Given the description of an element on the screen output the (x, y) to click on. 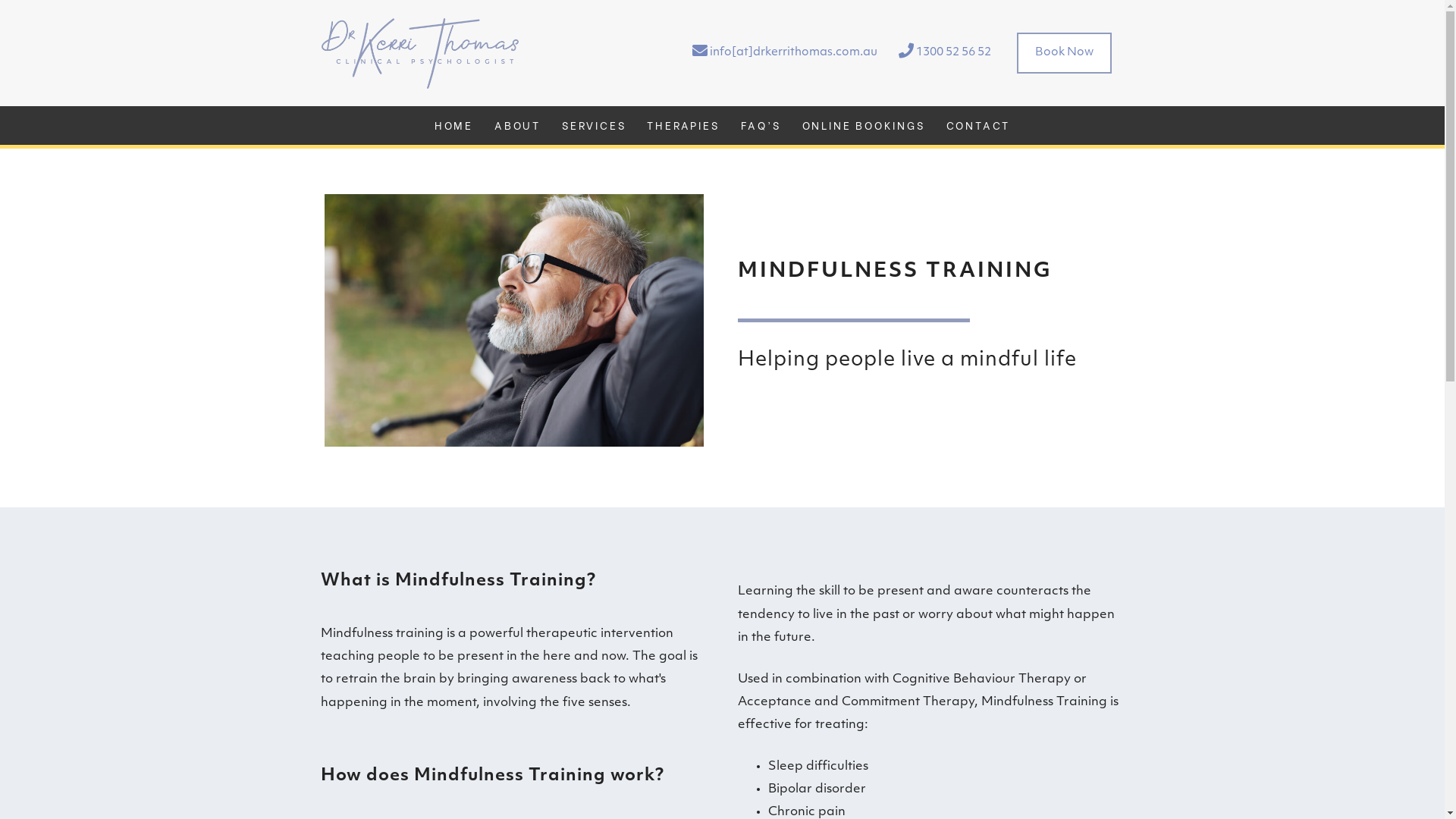
THERAPIES Element type: text (682, 125)
dr. kerri thomas Element type: text (419, 53)
SERVICES Element type: text (593, 125)
MindfulnessPsychologist Element type: hover (513, 320)
info[at]drkerrithomas.com.au Element type: text (783, 53)
HOME Element type: text (453, 125)
Skip to main content Element type: text (30, 0)
ABOUT Element type: text (517, 125)
CONTACT Element type: text (978, 125)
ONLINE BOOKINGS Element type: text (863, 125)
Book Now Element type: text (1063, 53)
1300 52 56 52 Element type: text (943, 53)
